Given the description of an element on the screen output the (x, y) to click on. 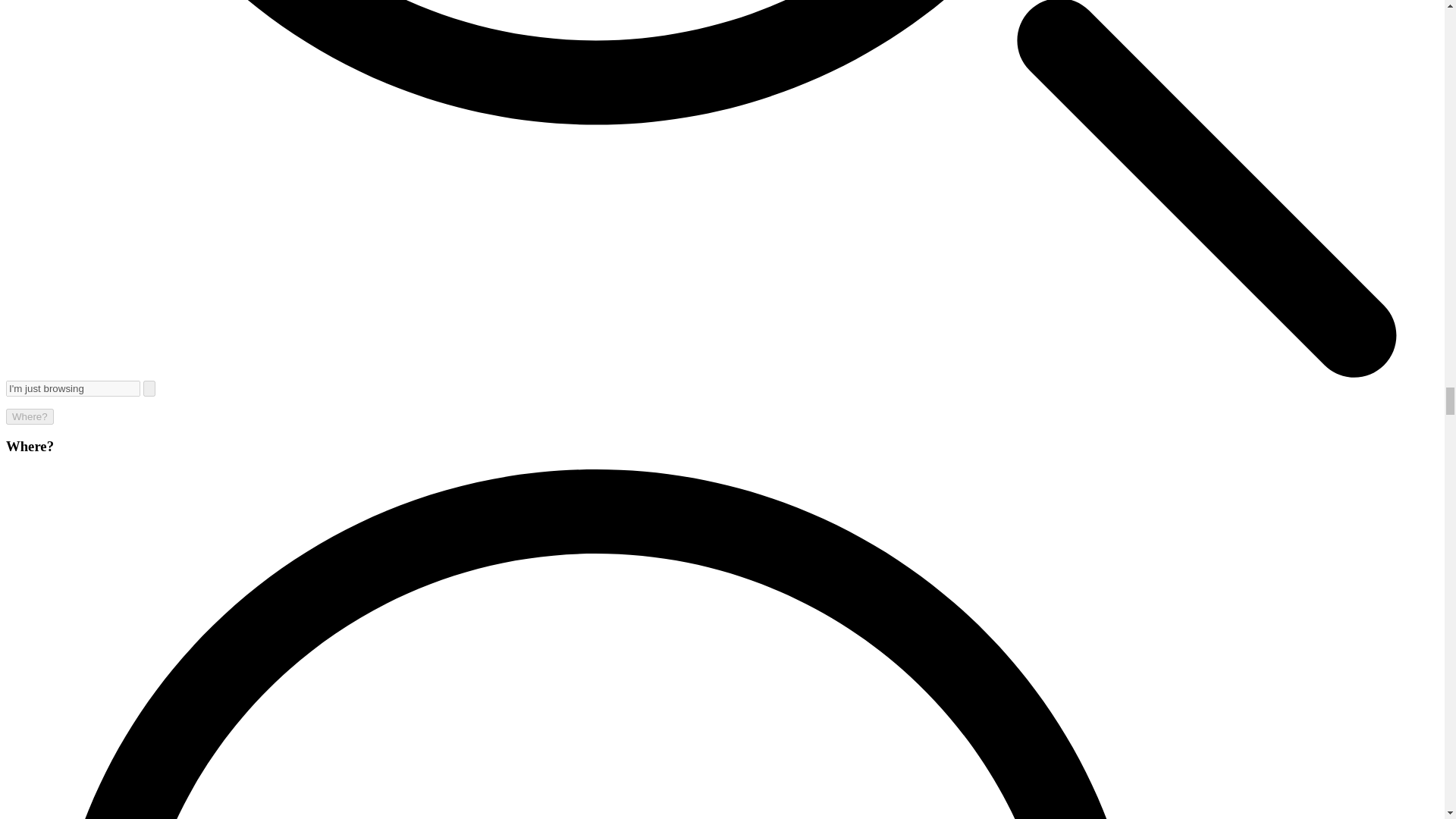
I'm just browsing (72, 388)
